Given the description of an element on the screen output the (x, y) to click on. 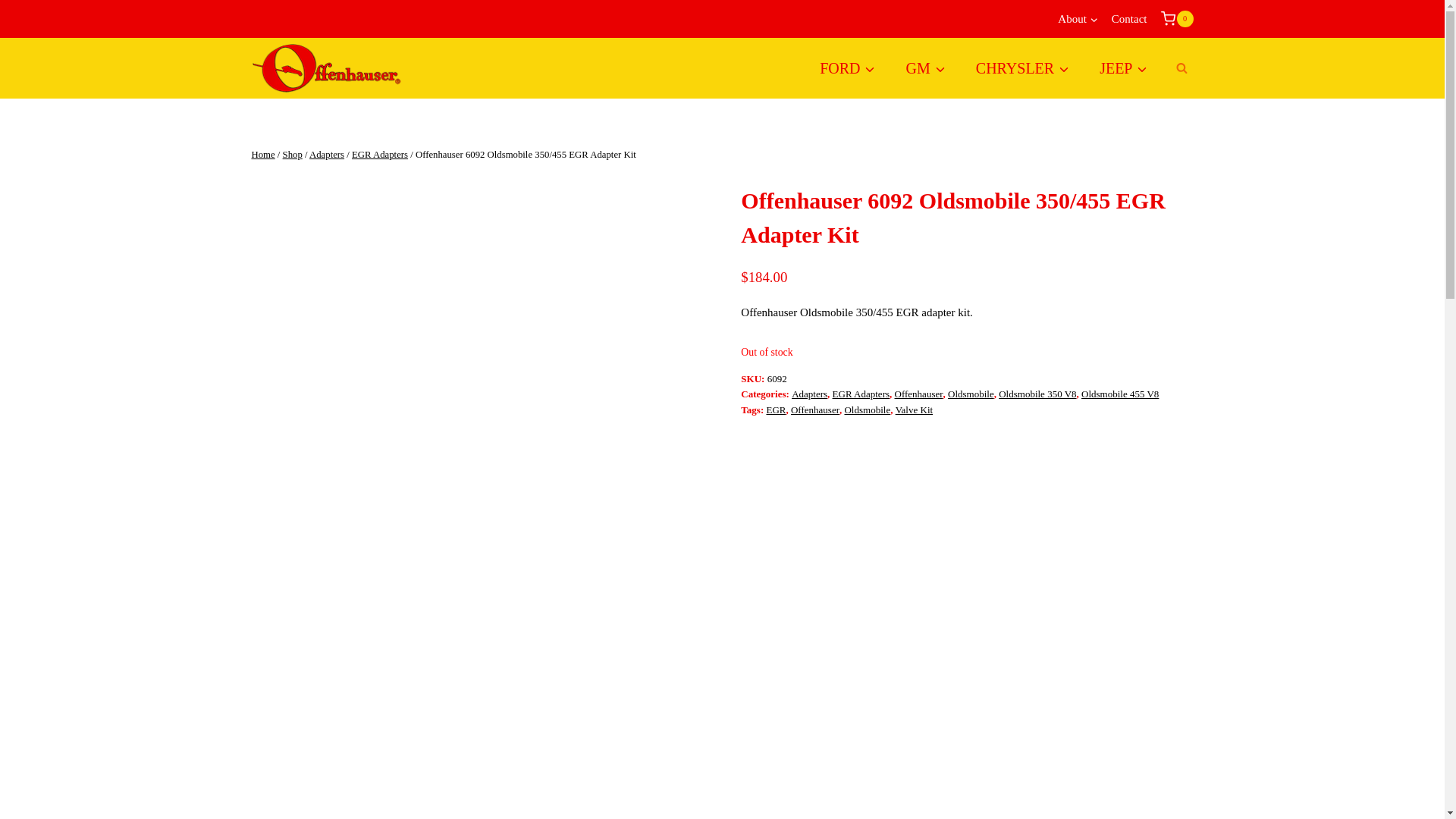
JEEP (1122, 67)
EGR Adapters (379, 154)
Home (263, 154)
FORD (847, 67)
Contact (1129, 19)
About (1078, 19)
CHRYSLER (1022, 67)
0 (1176, 18)
GM (925, 67)
Shop (292, 154)
Adapters (325, 154)
